Given the description of an element on the screen output the (x, y) to click on. 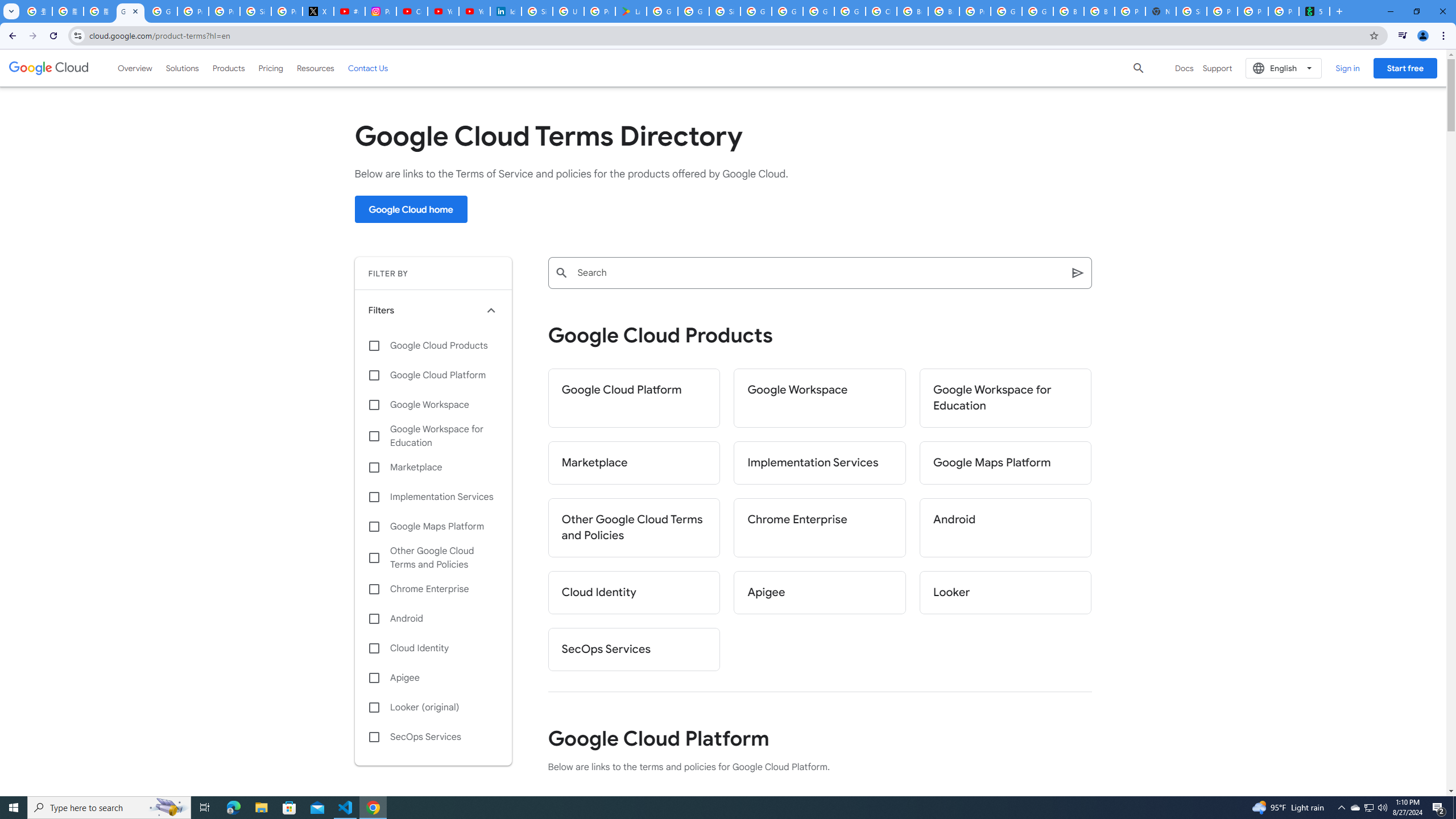
Browse Chrome as a guest - Computer - Google Chrome Help (1068, 11)
Sign in - Google Accounts (536, 11)
Sign in - Google Accounts (724, 11)
Google Workspace for Education (1005, 397)
Looker (original) (432, 707)
Cloud Identity (633, 592)
Google Cloud Platform (818, 11)
